Given the description of an element on the screen output the (x, y) to click on. 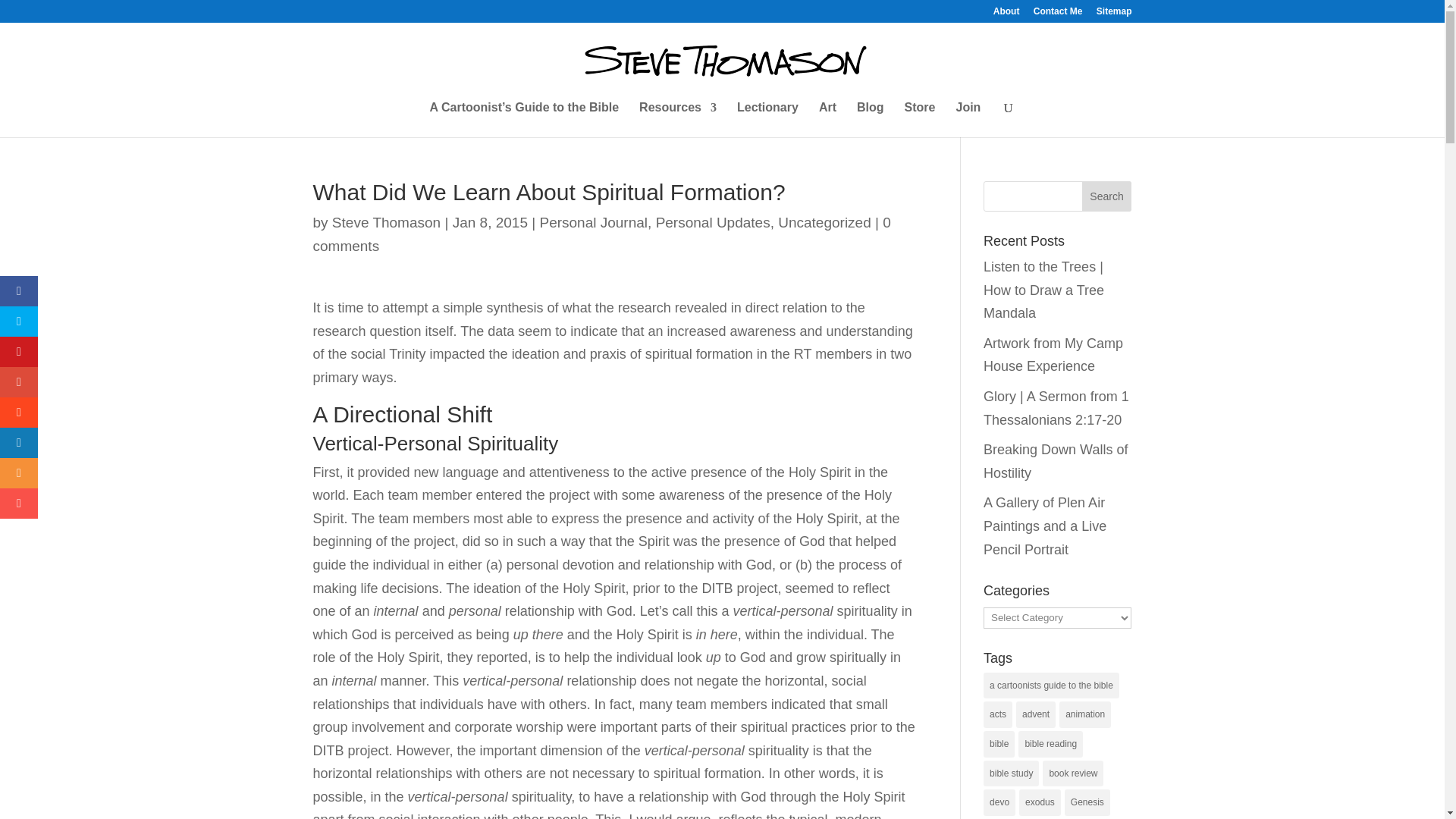
Lectionary (766, 119)
Search (1106, 195)
0 comments (601, 233)
About (1006, 14)
Contact Me (1058, 14)
Personal Updates (713, 222)
Personal Journal (592, 222)
Steve Thomason (386, 222)
Sitemap (1114, 14)
Resources (677, 119)
Uncategorized (823, 222)
Store (920, 119)
Posts by Steve Thomason (386, 222)
